Given the description of an element on the screen output the (x, y) to click on. 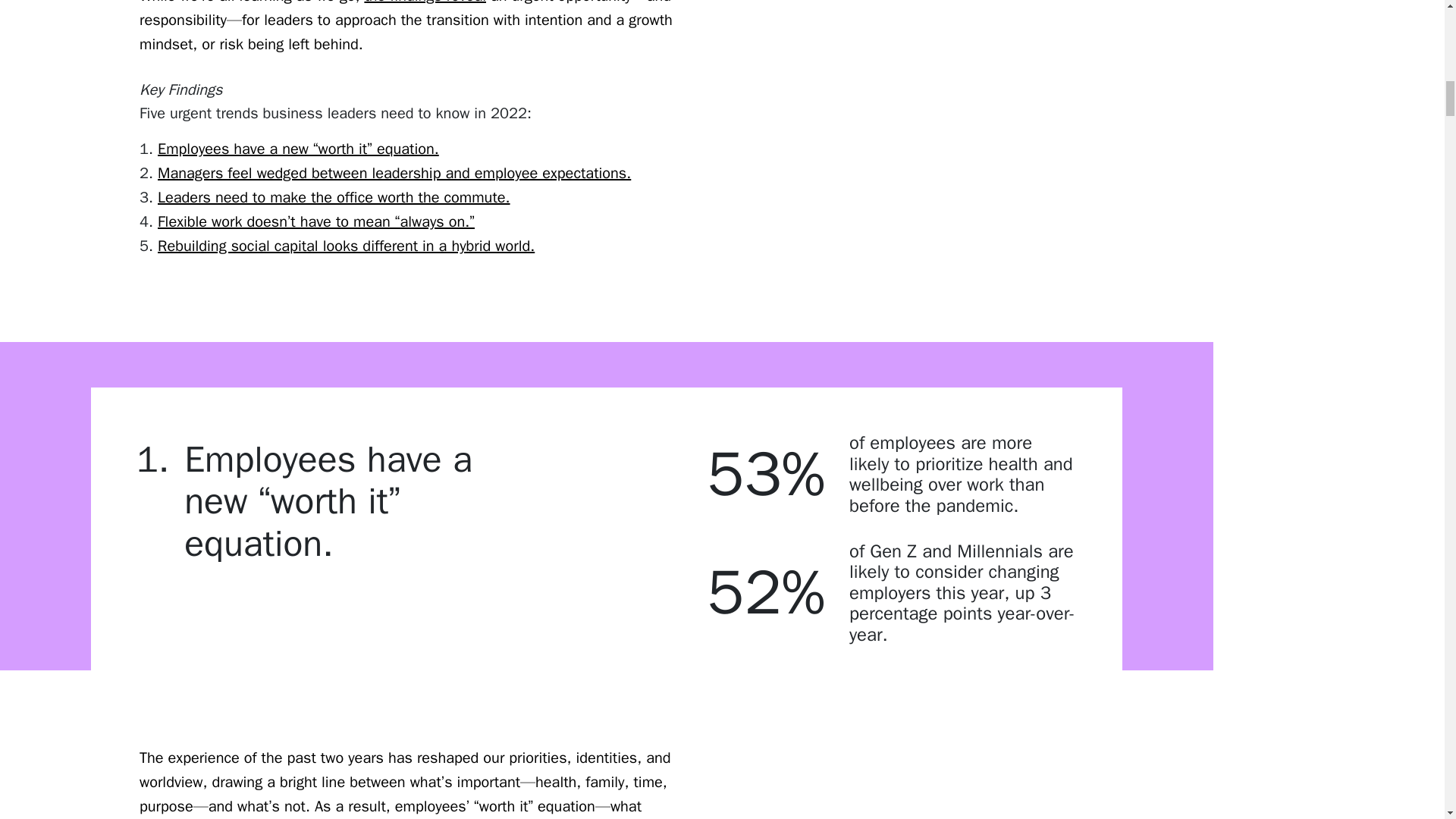
the findings reveal (425, 2)
Leaders need to make the office worth the commute. (334, 197)
Rebuilding social capital looks different in a hybrid world. (345, 245)
